Given the description of an element on the screen output the (x, y) to click on. 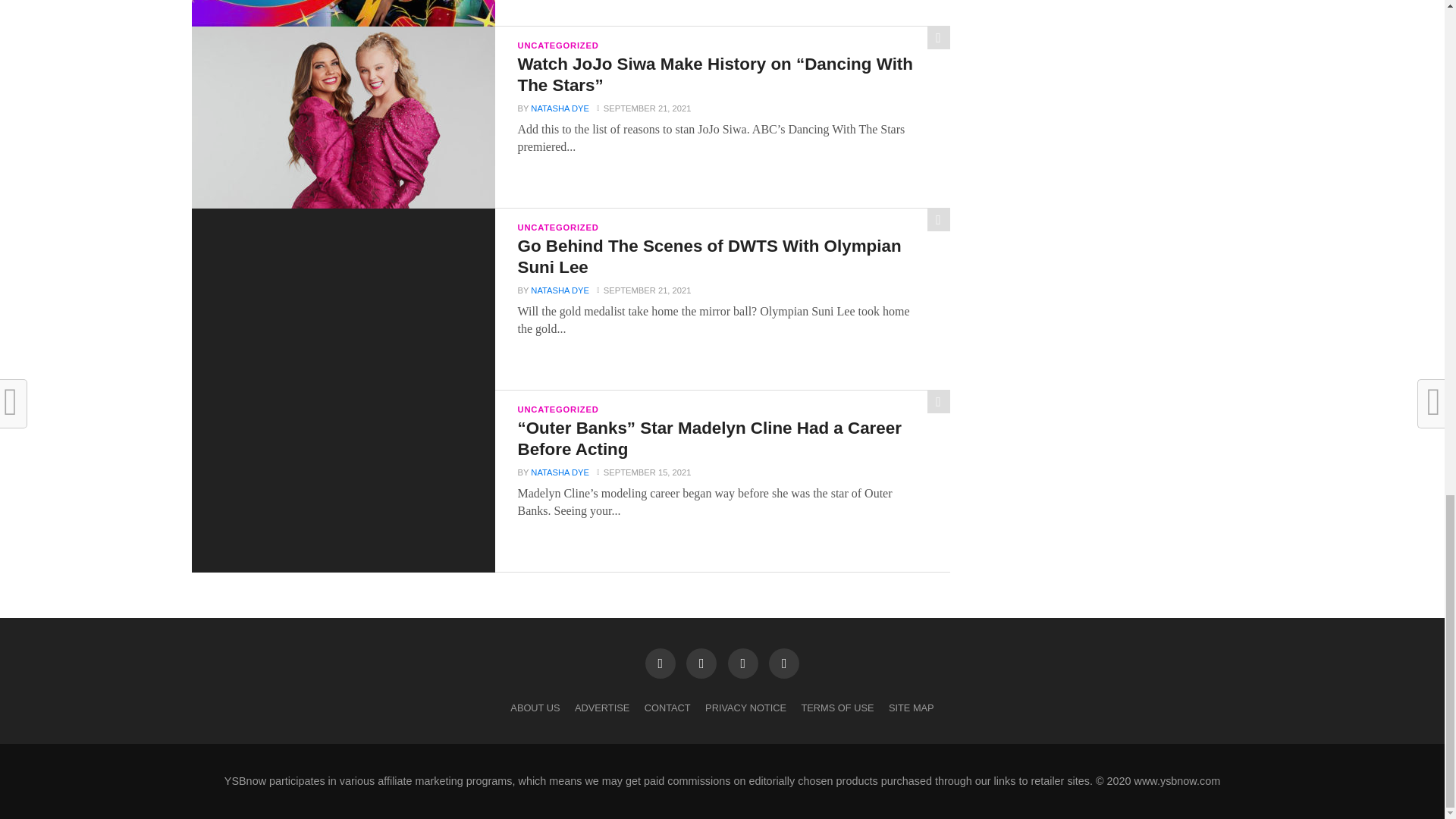
Posts by Natasha Dye (560, 108)
